Given the description of an element on the screen output the (x, y) to click on. 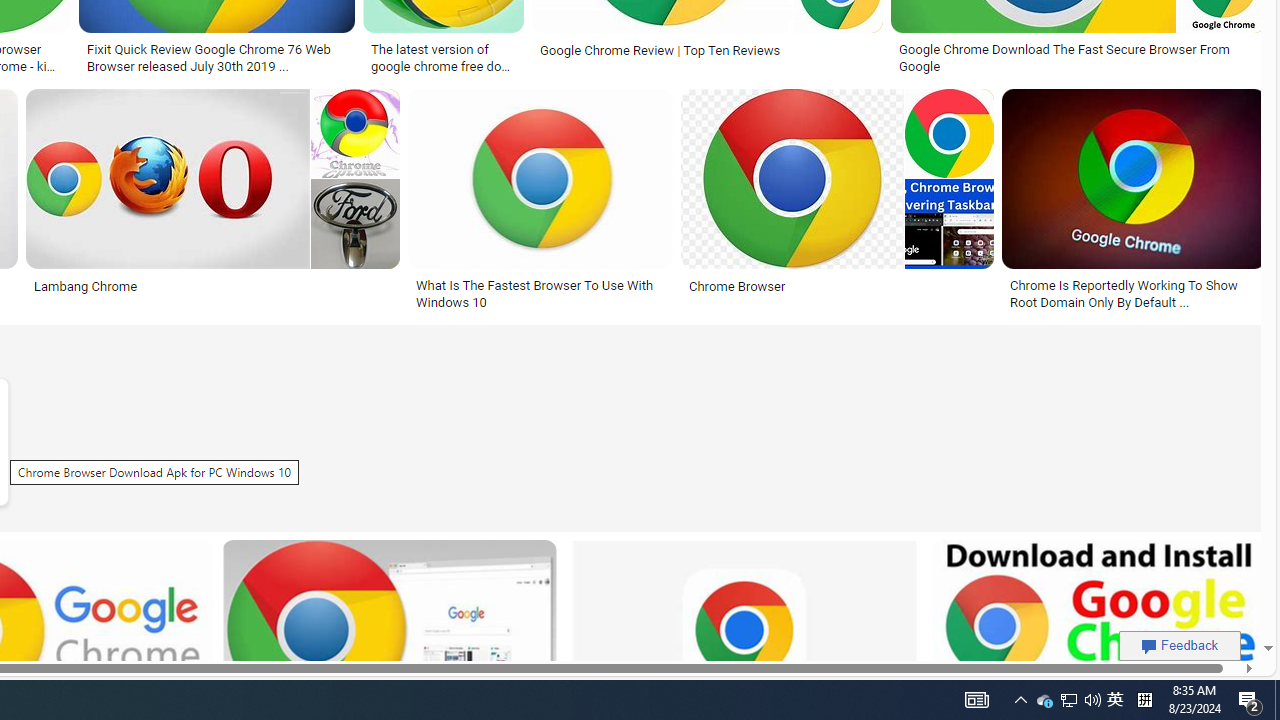
Google Chrome Download The Fast Secure Browser From Google (1078, 57)
Chrome Browser (836, 286)
Lambang ChromeSave (216, 202)
Google Chrome Review | Top Ten Reviews (707, 50)
Lambang Chrome (212, 286)
What Is The Fastest Browser To Use With Windows 10 (540, 294)
The latest version of google chrome free download - gaimacro (443, 56)
Chrome BrowserSave (841, 202)
What Is The Fastest Browser To Use With Windows 10 (540, 294)
What Is The Fastest Browser To Use With Windows 10Save (544, 202)
